Given the description of an element on the screen output the (x, y) to click on. 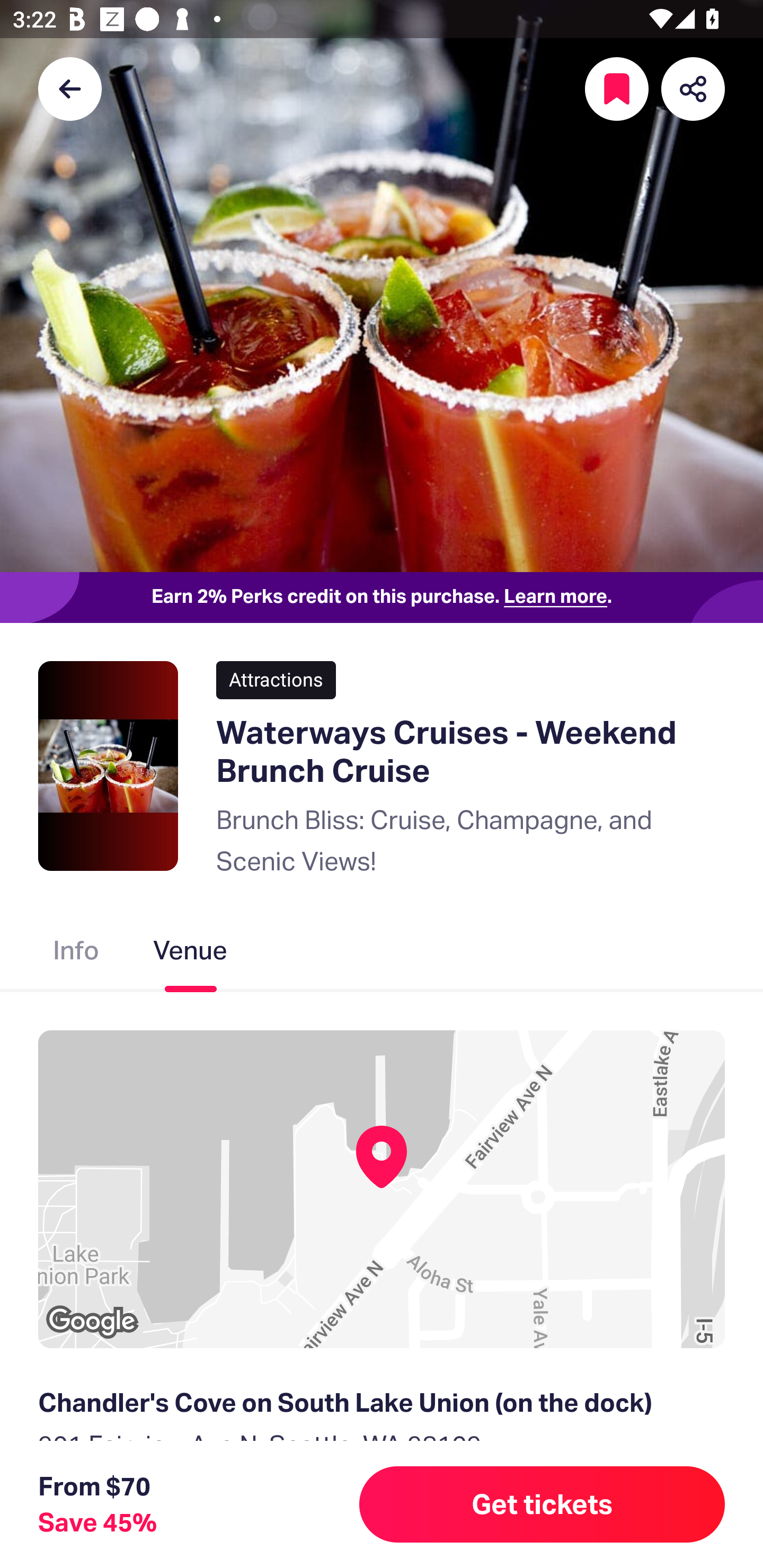
Earn 2% Perks credit on this purchase. Learn more. (381, 597)
Info (76, 953)
Get tickets (541, 1504)
Get directions (381, 1533)
